Given the description of an element on the screen output the (x, y) to click on. 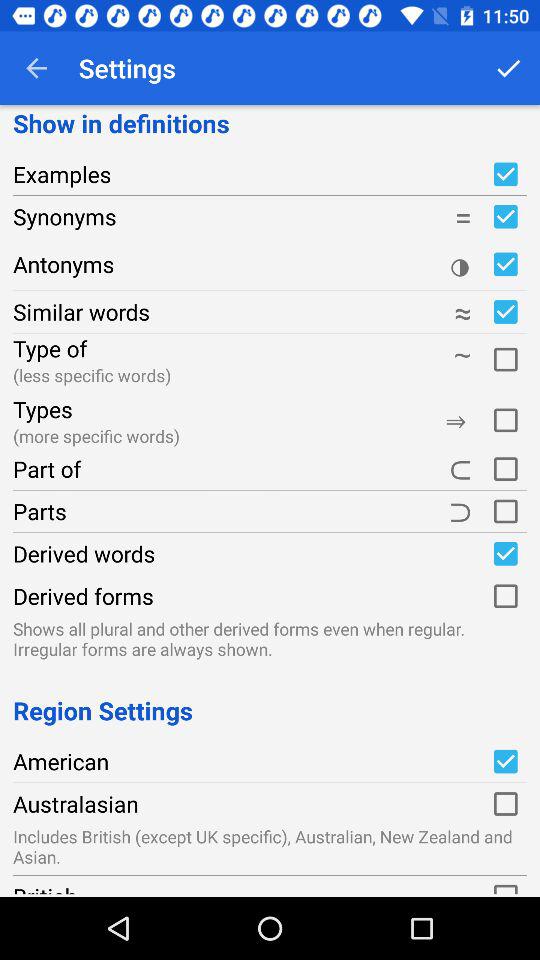
check type of (505, 356)
